Given the description of an element on the screen output the (x, y) to click on. 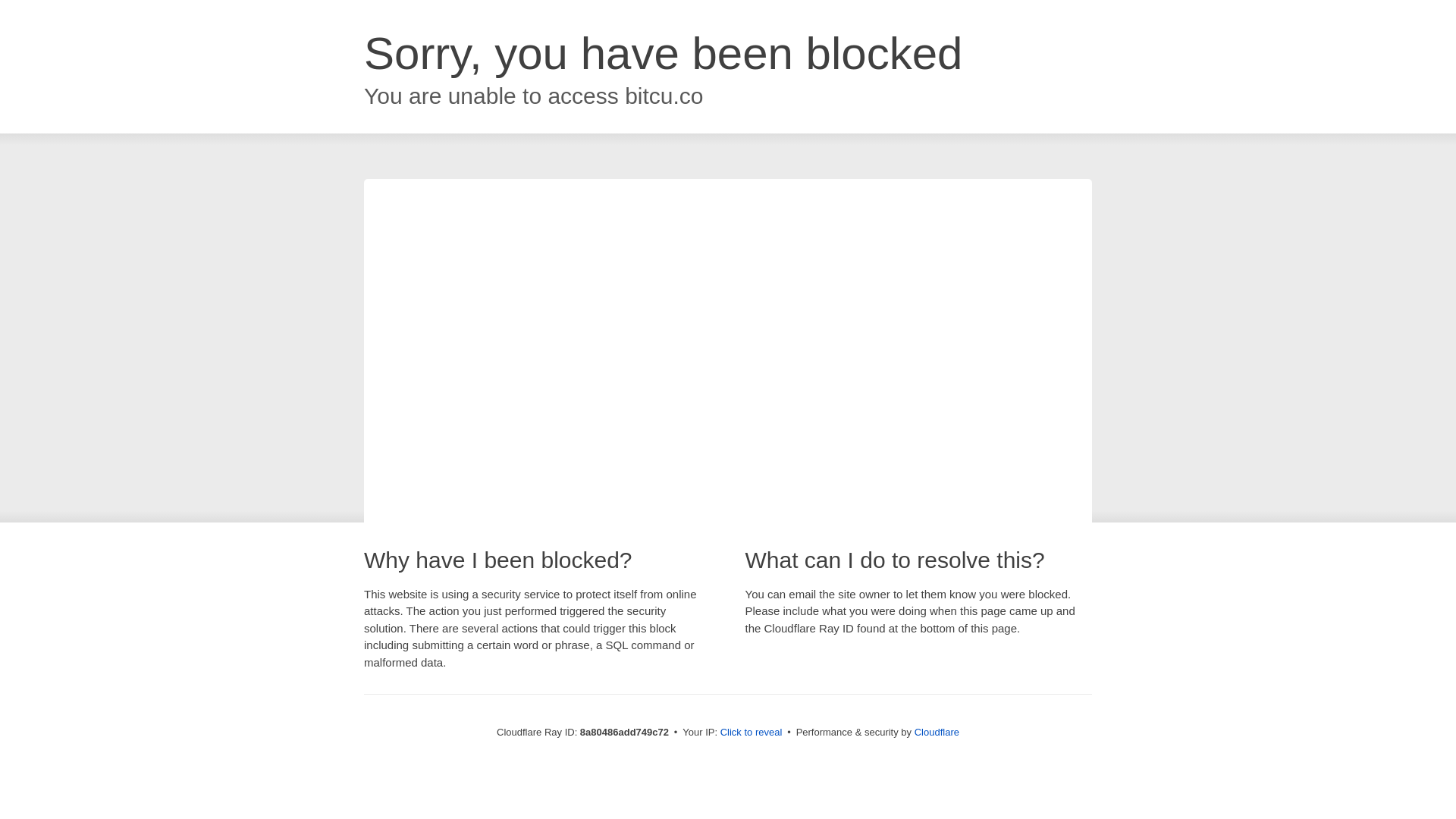
Cloudflare (936, 731)
Click to reveal (751, 732)
